Given the description of an element on the screen output the (x, y) to click on. 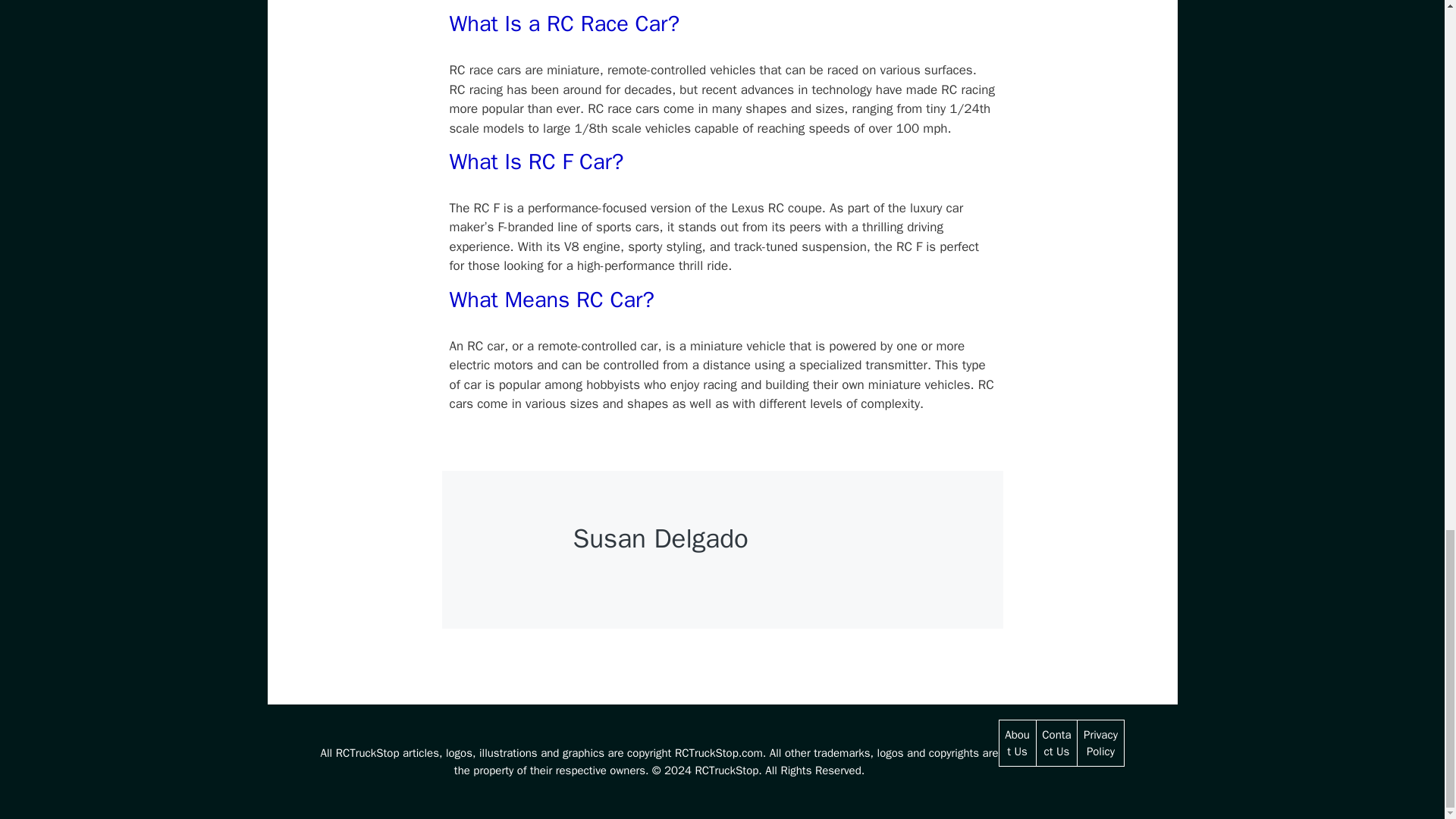
What Means RC Car? (550, 299)
Privacy Policy (1100, 743)
What Is a RC Race Car? (563, 23)
What Is RC F Car? (535, 162)
Contact Us (1056, 743)
